Given the description of an element on the screen output the (x, y) to click on. 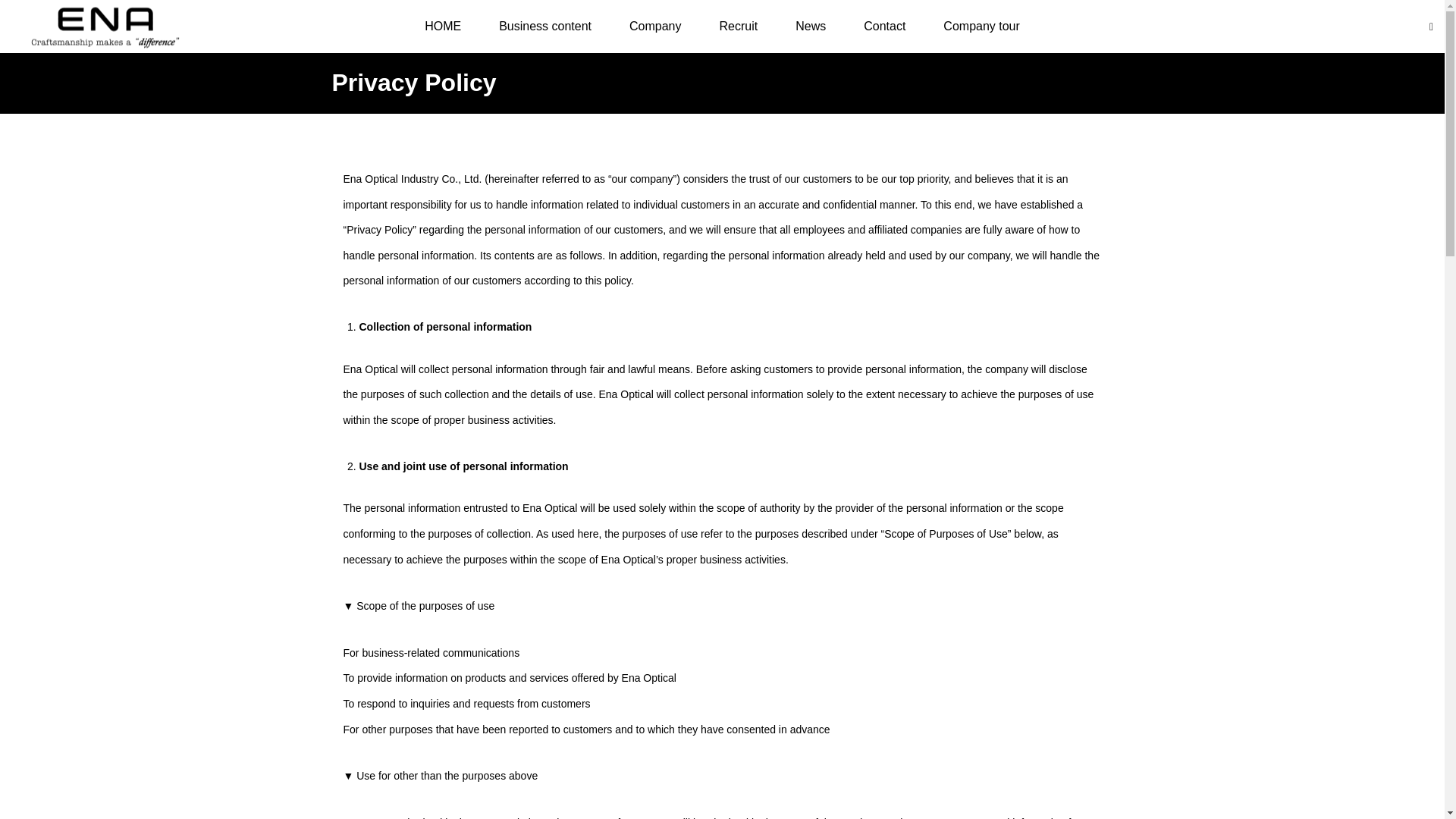
Contact (884, 26)
Company tour (981, 26)
Recruit (738, 26)
HOME (443, 26)
News (810, 26)
Company (655, 26)
Ena Optical Mfg. Co., Ltd. (105, 26)
Business content (545, 26)
